Given the description of an element on the screen output the (x, y) to click on. 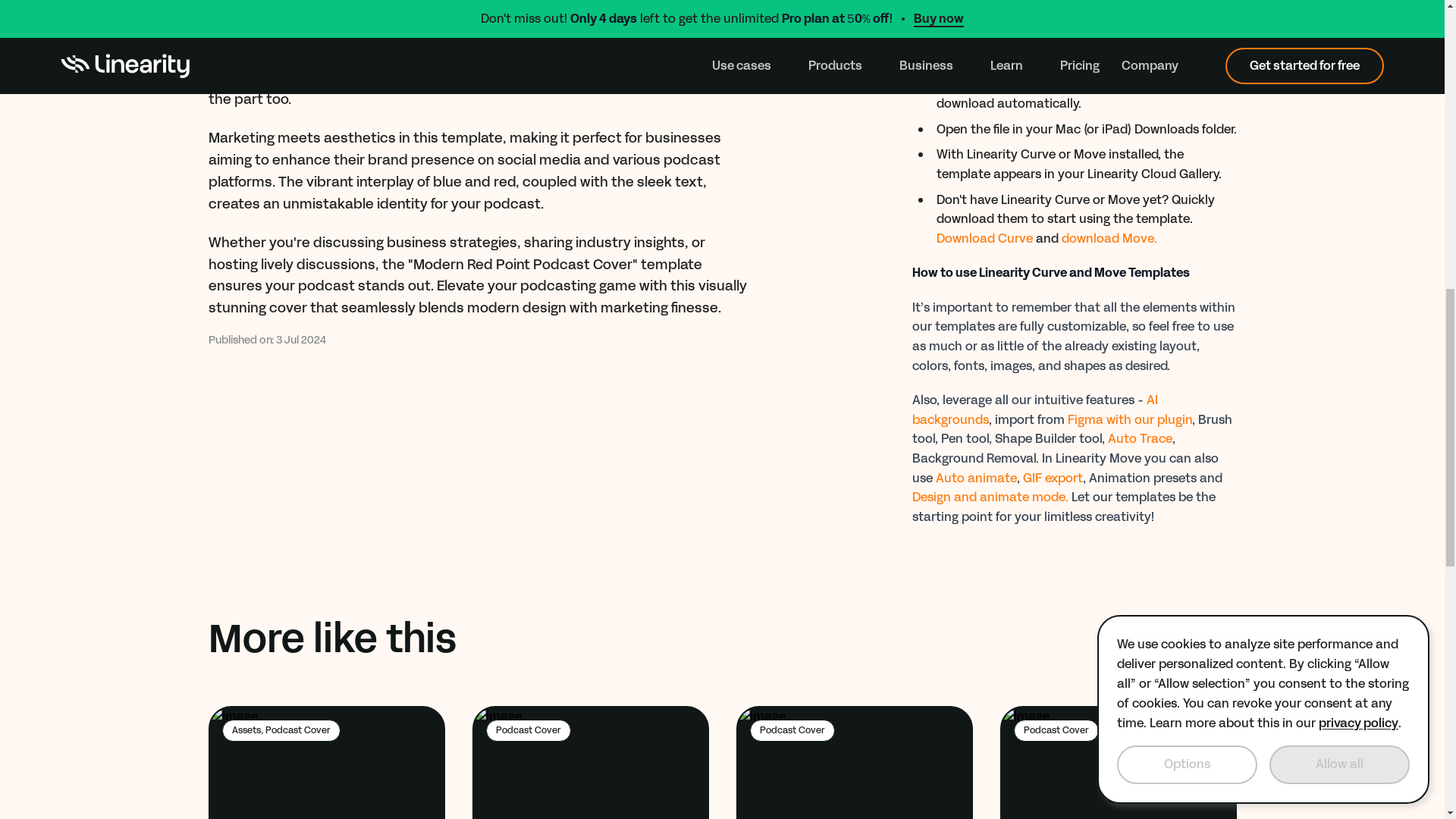
Figma with our plugin (1117, 762)
Design and animate mode. (1129, 419)
AI backgrounds (989, 497)
See all (1034, 409)
GIF export (1191, 639)
Auto Trace (1051, 477)
Download Curve (1139, 438)
Auto animate (984, 238)
download Move. (589, 762)
